Given the description of an element on the screen output the (x, y) to click on. 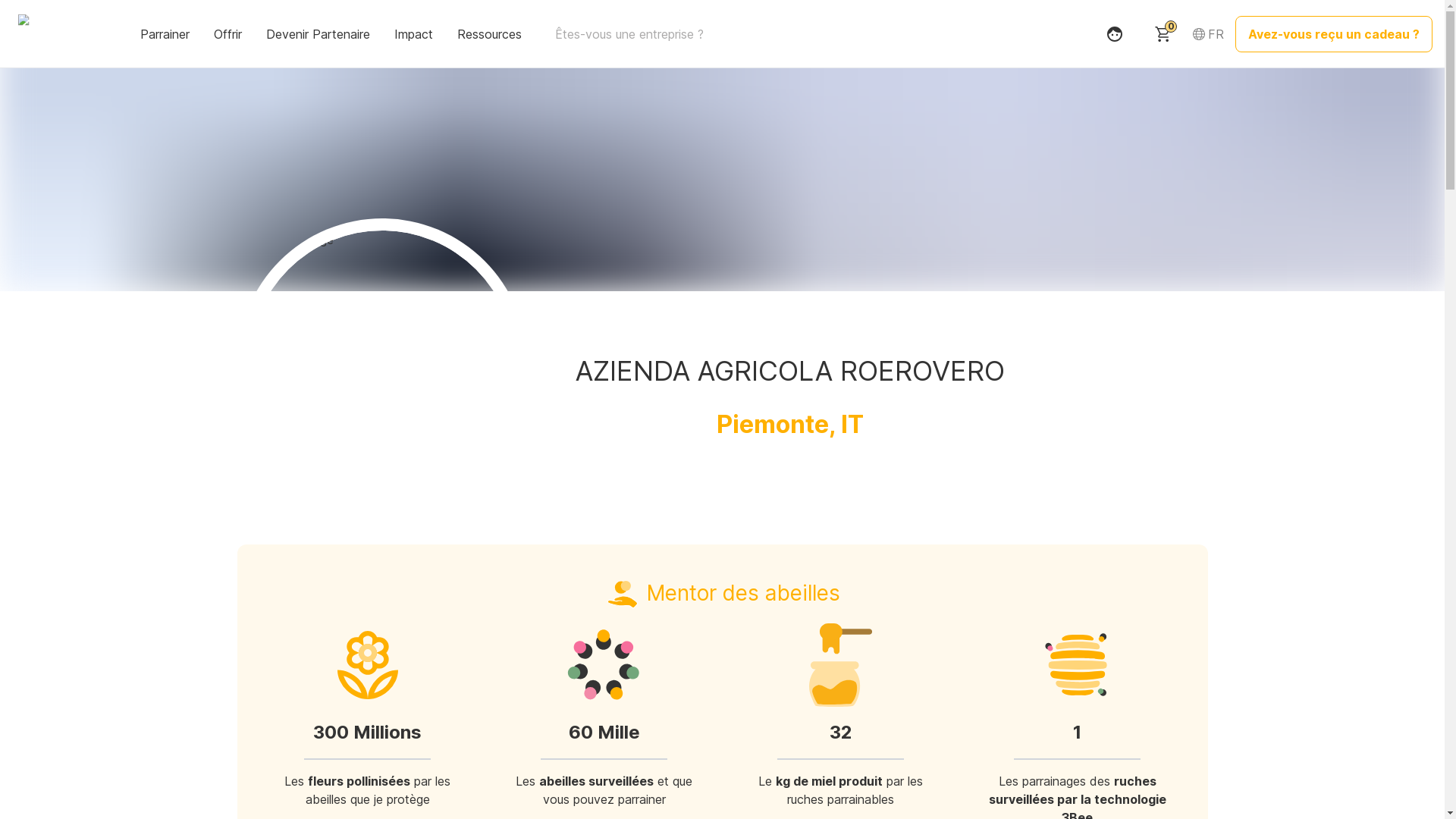
Devenir Partenaire Element type: text (319, 33)
Ressources Element type: text (490, 33)
Offrir Element type: text (229, 33)
Impact Element type: text (415, 33)
Parrainer Element type: text (166, 33)
